Given the description of an element on the screen output the (x, y) to click on. 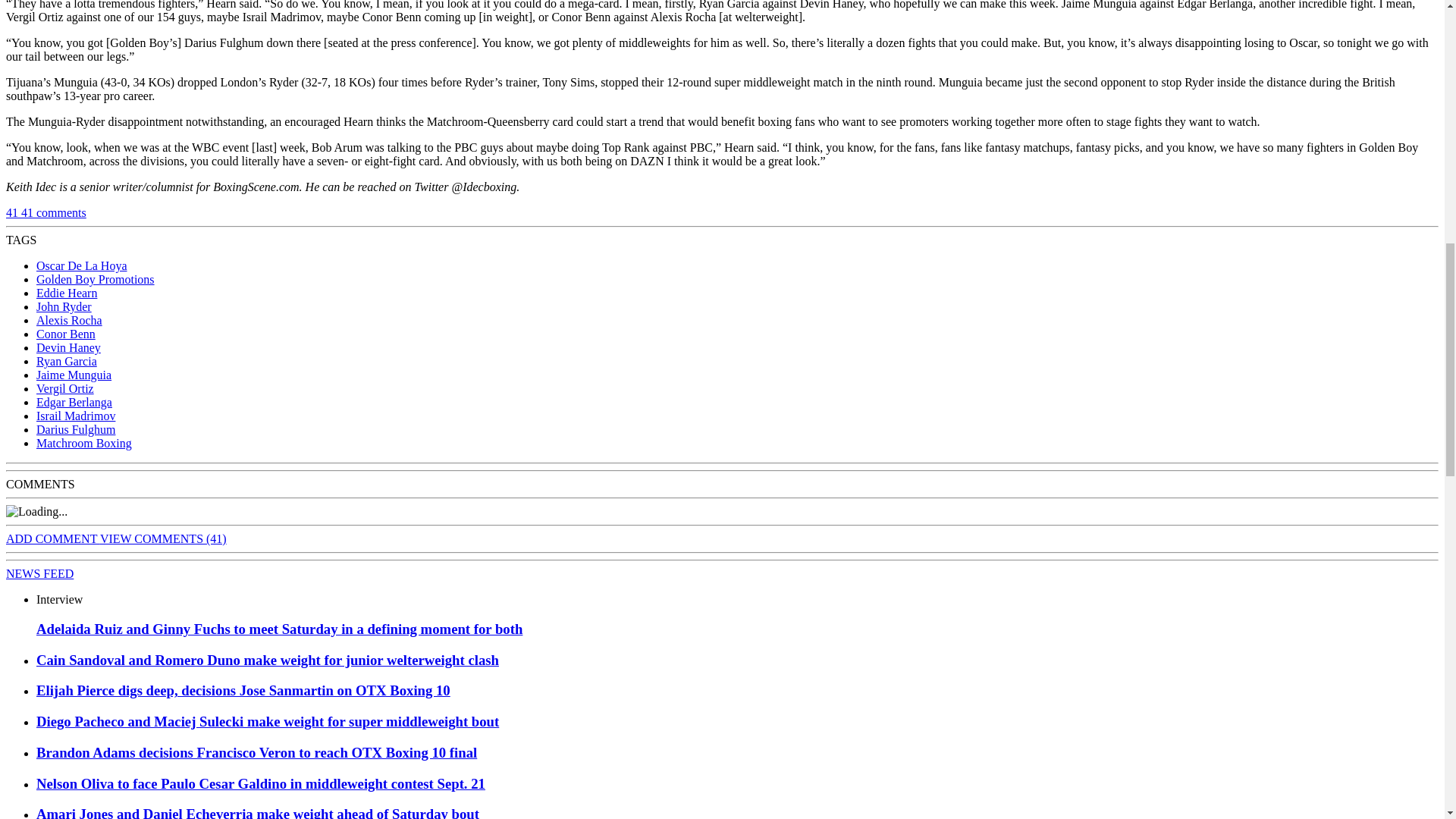
John Ryder (63, 306)
Devin Haney (68, 347)
Oscar De La Hoya (82, 265)
41 41 comments (45, 212)
Golden Boy Promotions (95, 278)
Eddie Hearn (66, 292)
Alexis Rocha (68, 319)
Ryan Garcia (66, 360)
Conor Benn (66, 333)
